Given the description of an element on the screen output the (x, y) to click on. 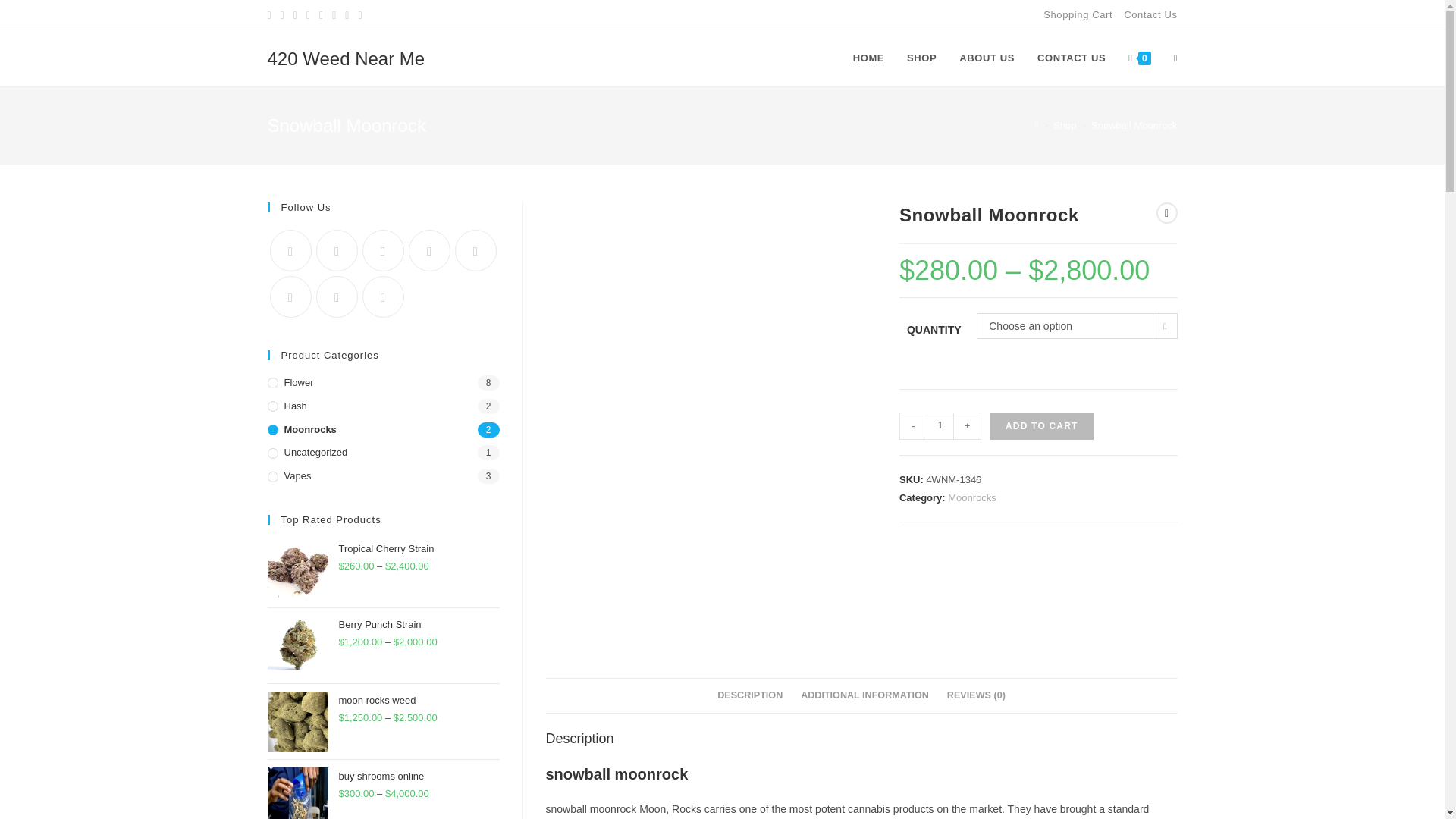
- (912, 425)
420 Weed Near Me (345, 58)
HOME (868, 58)
Shopping Cart (1077, 14)
Snowball Moonrock (1133, 125)
Contact Us (1150, 14)
SHOP (921, 58)
CONTACT US (1071, 58)
1 (939, 425)
ABOUT US (986, 58)
Shop (1063, 125)
